Given the description of an element on the screen output the (x, y) to click on. 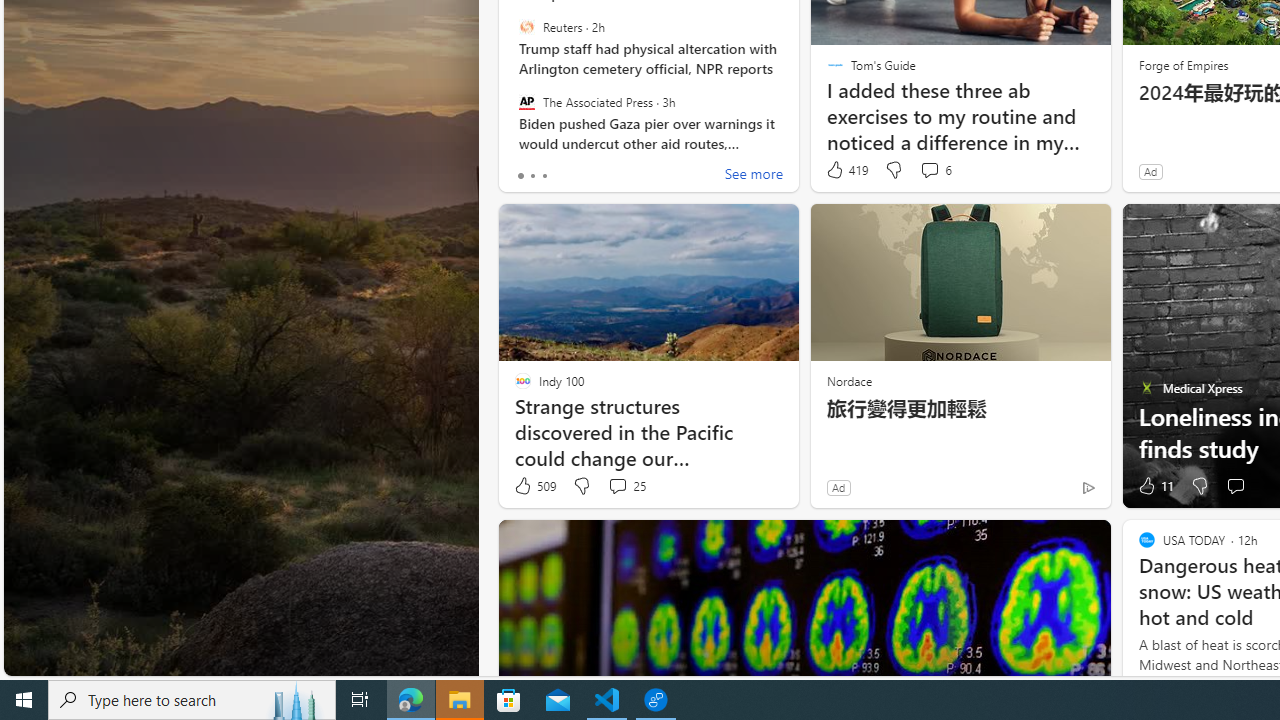
tab-2 (543, 175)
tab-1 (532, 175)
Forge of Empires (1182, 64)
11 Like (1154, 485)
The Associated Press (526, 101)
419 Like (845, 170)
tab-0 (520, 175)
509 Like (534, 485)
